Given the description of an element on the screen output the (x, y) to click on. 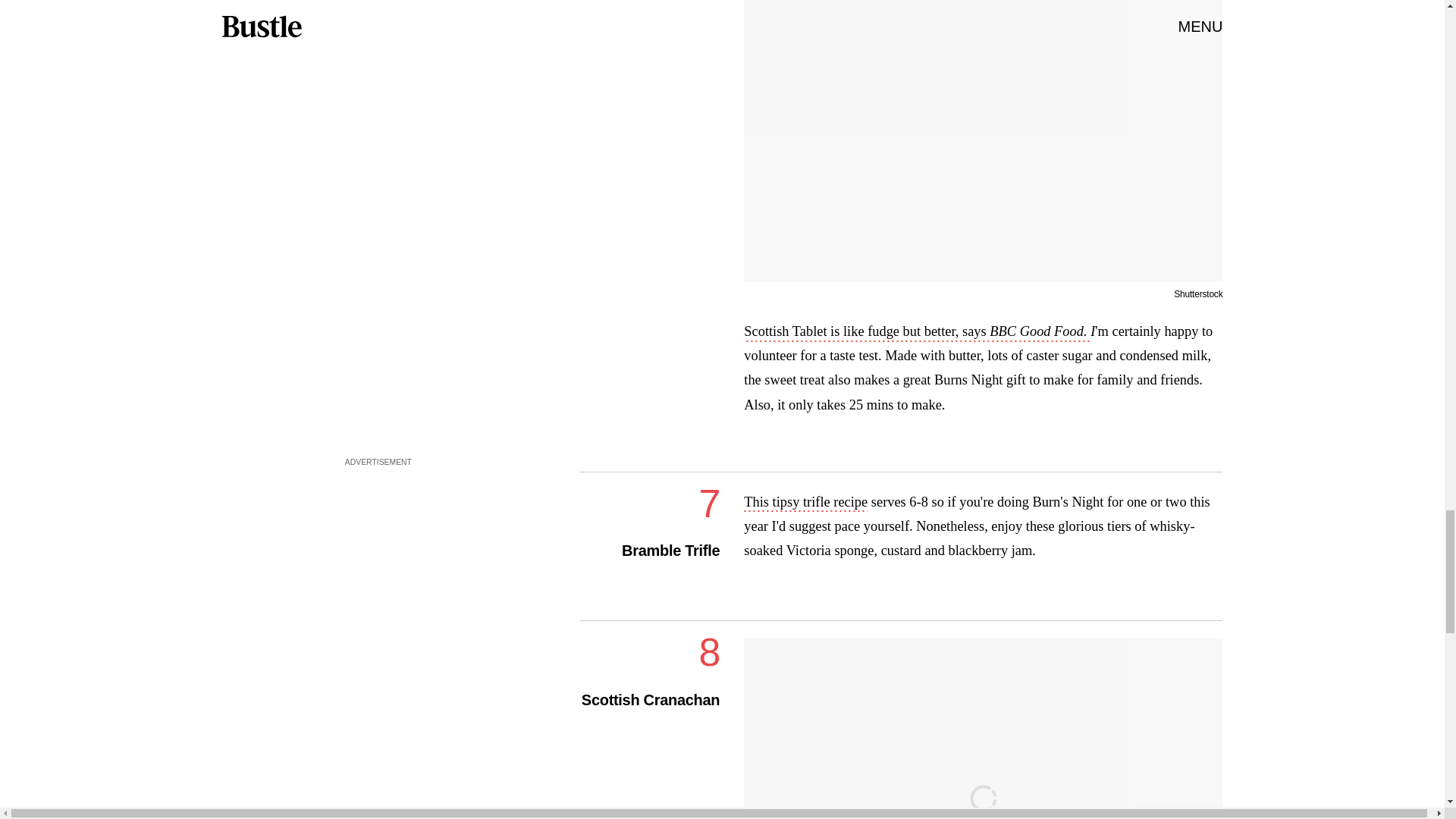
This tipsy trifle recipe (805, 503)
